Given the description of an element on the screen output the (x, y) to click on. 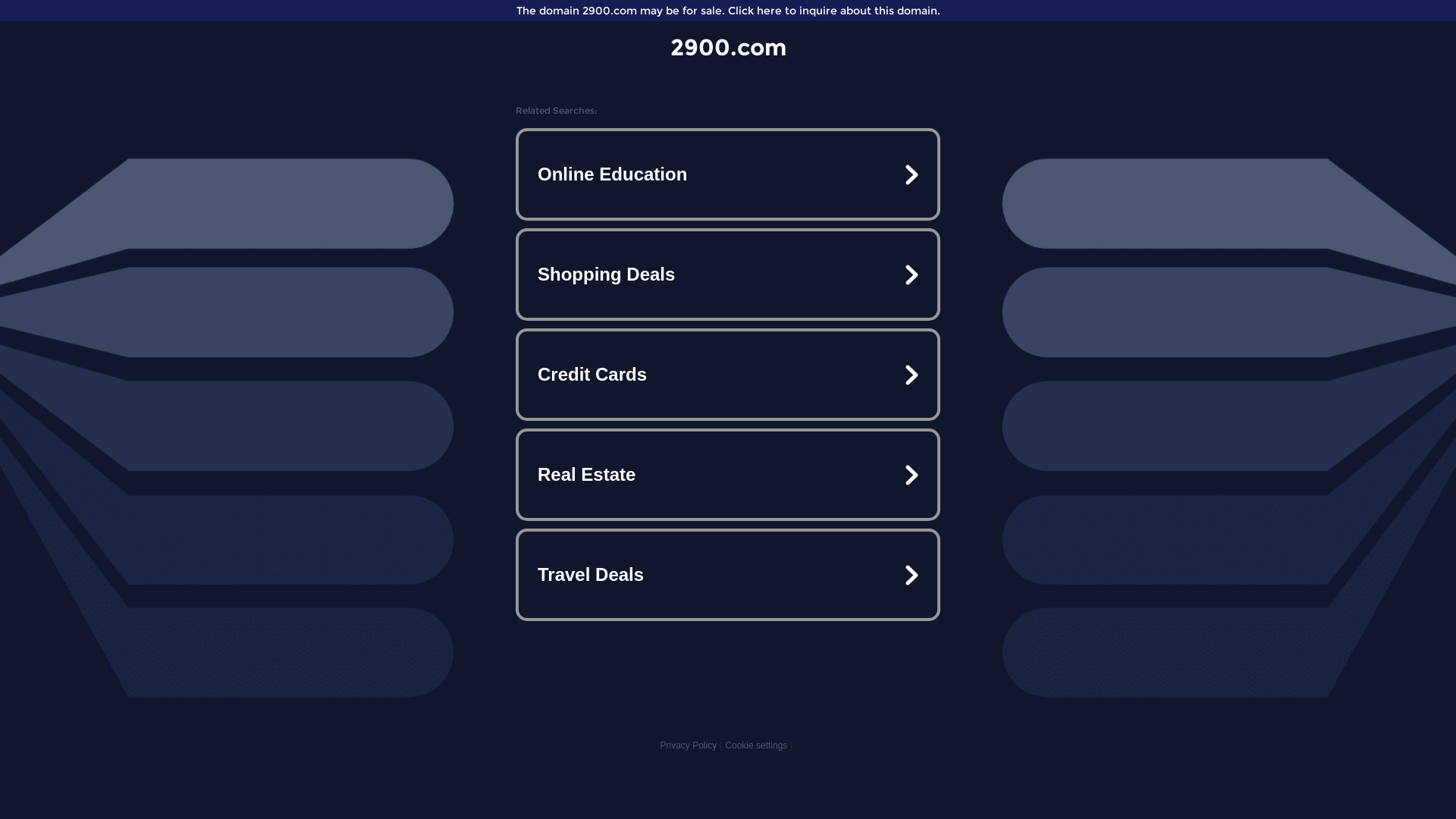
Shopping Deals Element type: text (727, 274)
Real Estate Element type: text (727, 474)
Travel Deals Element type: text (727, 574)
Cookie settings Element type: text (755, 745)
Online Education Element type: text (727, 174)
Privacy Policy Element type: text (687, 745)
Credit Cards Element type: text (727, 374)
2900.com Element type: text (728, 47)
